Given the description of an element on the screen output the (x, y) to click on. 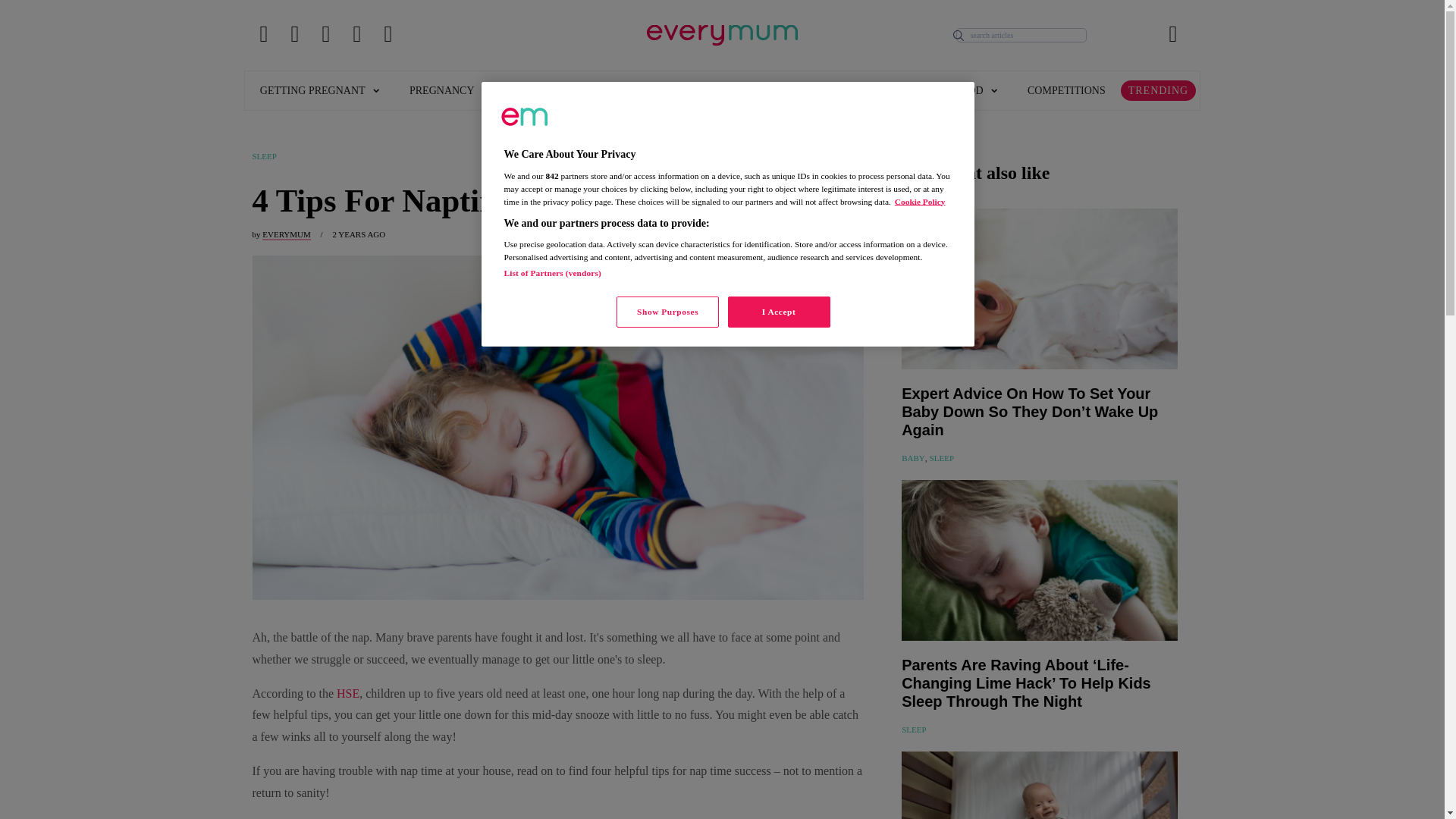
PREGNANCY (448, 90)
GETTING PREGNANT (319, 90)
Submit the search query (958, 34)
KIDS (611, 90)
BABY (539, 90)
PARENTING (697, 90)
everymum (524, 116)
